Given the description of an element on the screen output the (x, y) to click on. 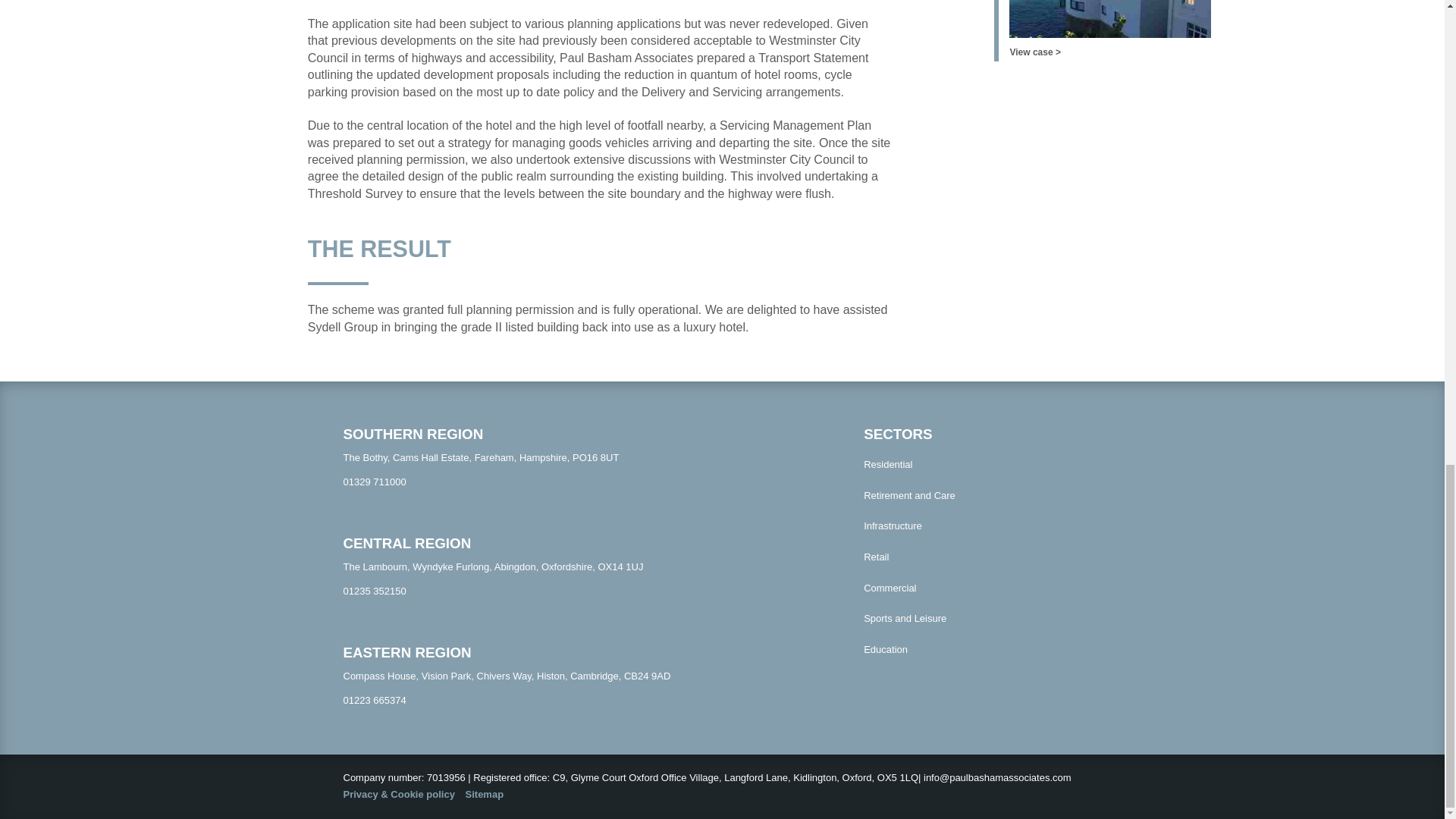
Education (981, 649)
Retail (981, 557)
Sports and Leisure (981, 618)
Residential (981, 464)
Retirement and Care (981, 495)
Sitemap (484, 794)
Commercial (981, 588)
Infrastructure (981, 526)
